Given the description of an element on the screen output the (x, y) to click on. 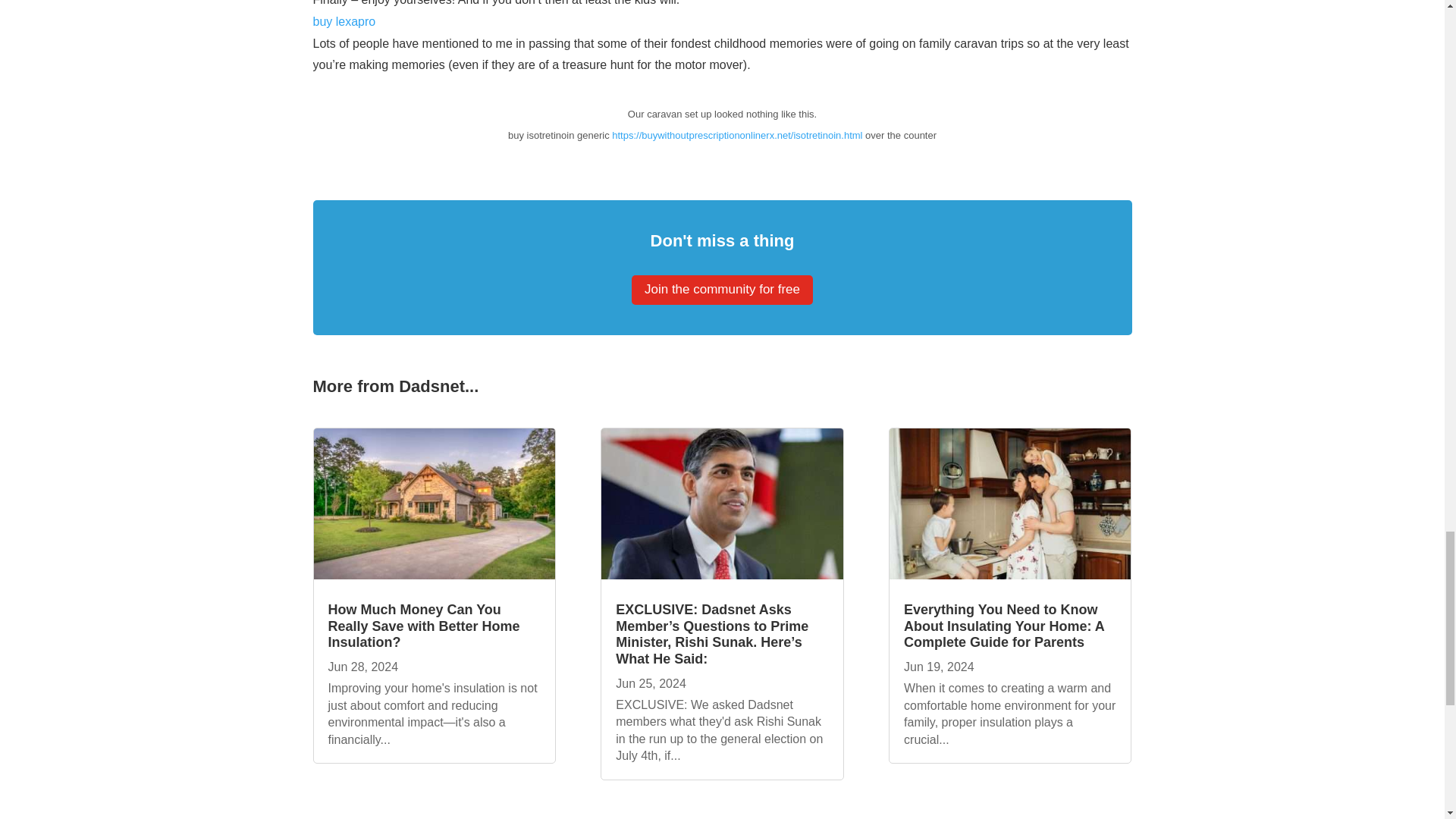
buy lexapro (344, 21)
Join the community for free (721, 289)
